Given the description of an element on the screen output the (x, y) to click on. 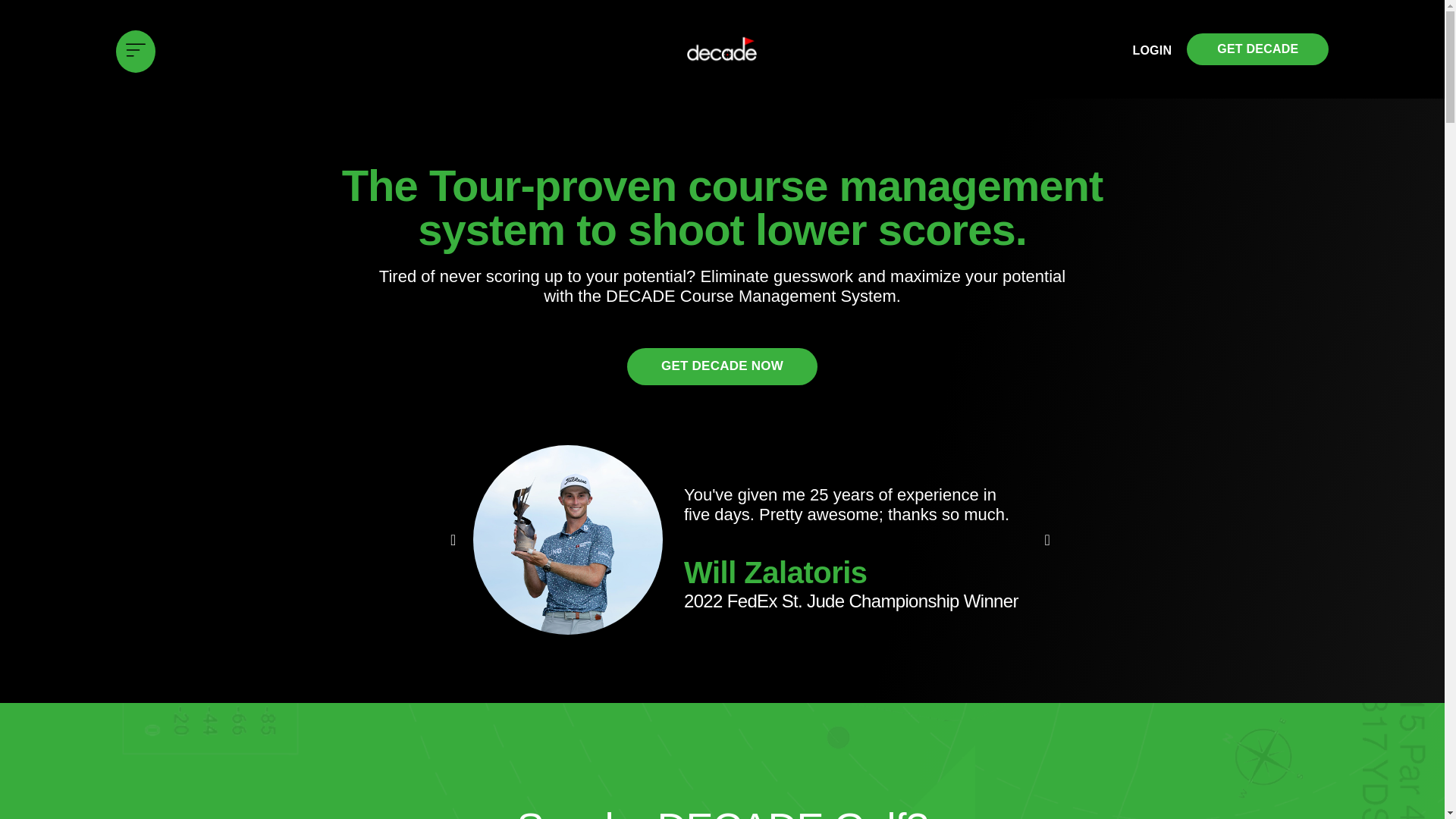
GET DECADE (1256, 49)
LOGIN (1152, 50)
GET DECADE NOW (721, 366)
